Given the description of an element on the screen output the (x, y) to click on. 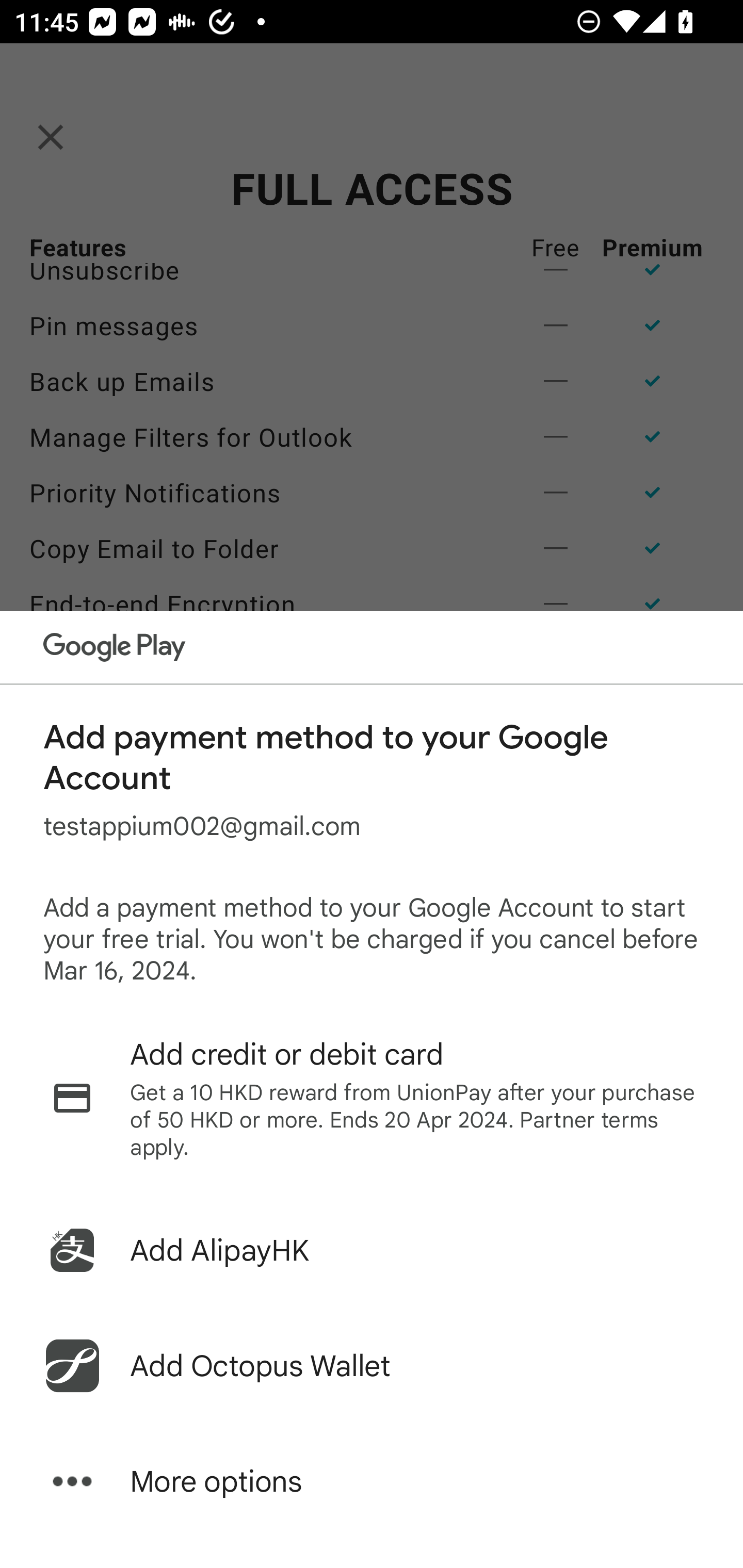
Add AlipayHK (371, 1250)
Add Octopus Wallet (371, 1365)
More options (371, 1481)
